Given the description of an element on the screen output the (x, y) to click on. 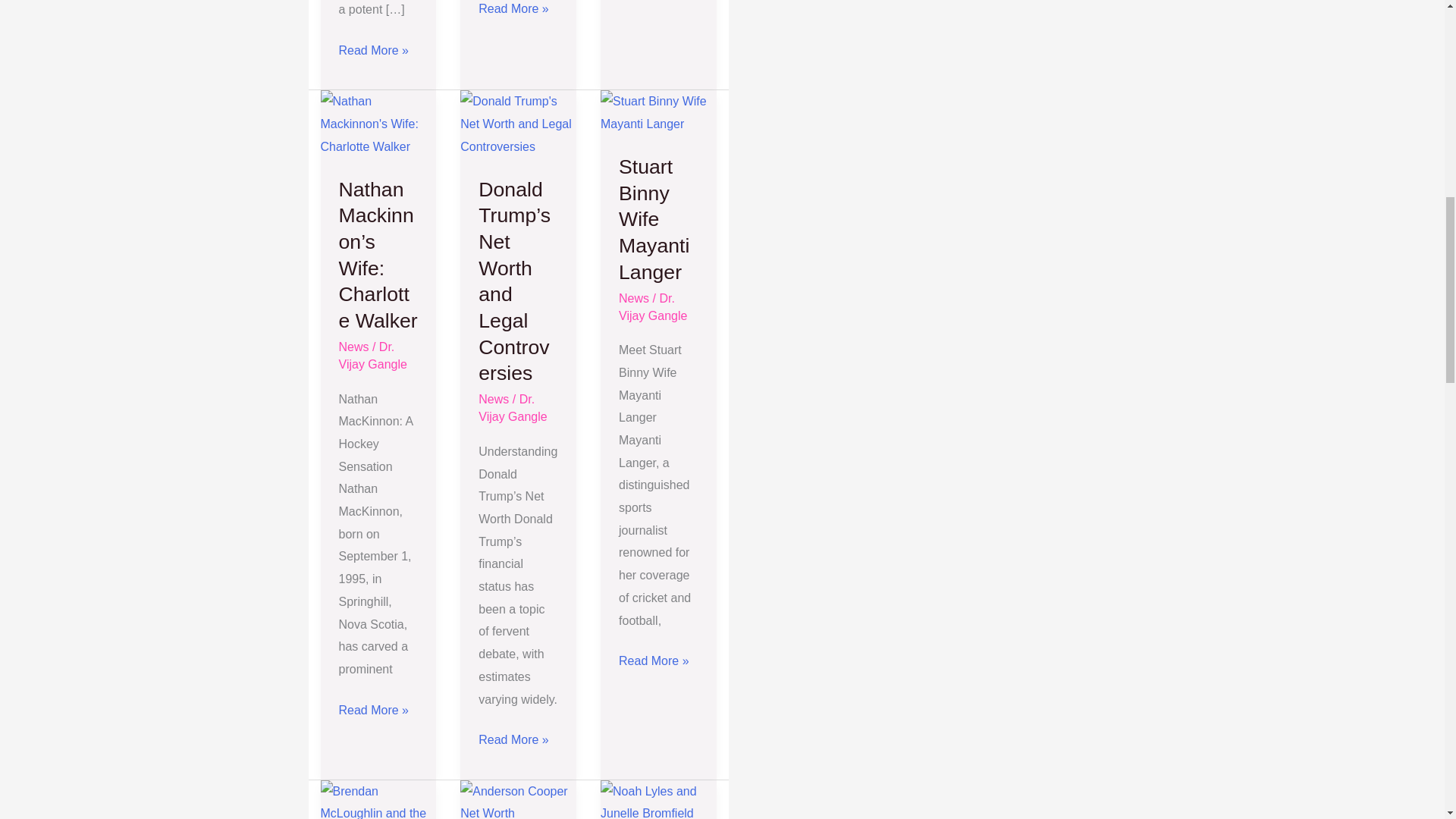
View all posts by Dr. Vijay Gangle (513, 408)
View all posts by Dr. Vijay Gangle (652, 306)
Dr. Vijay Gangle (371, 355)
News (352, 346)
View all posts by Dr. Vijay Gangle (371, 355)
